Given the description of an element on the screen output the (x, y) to click on. 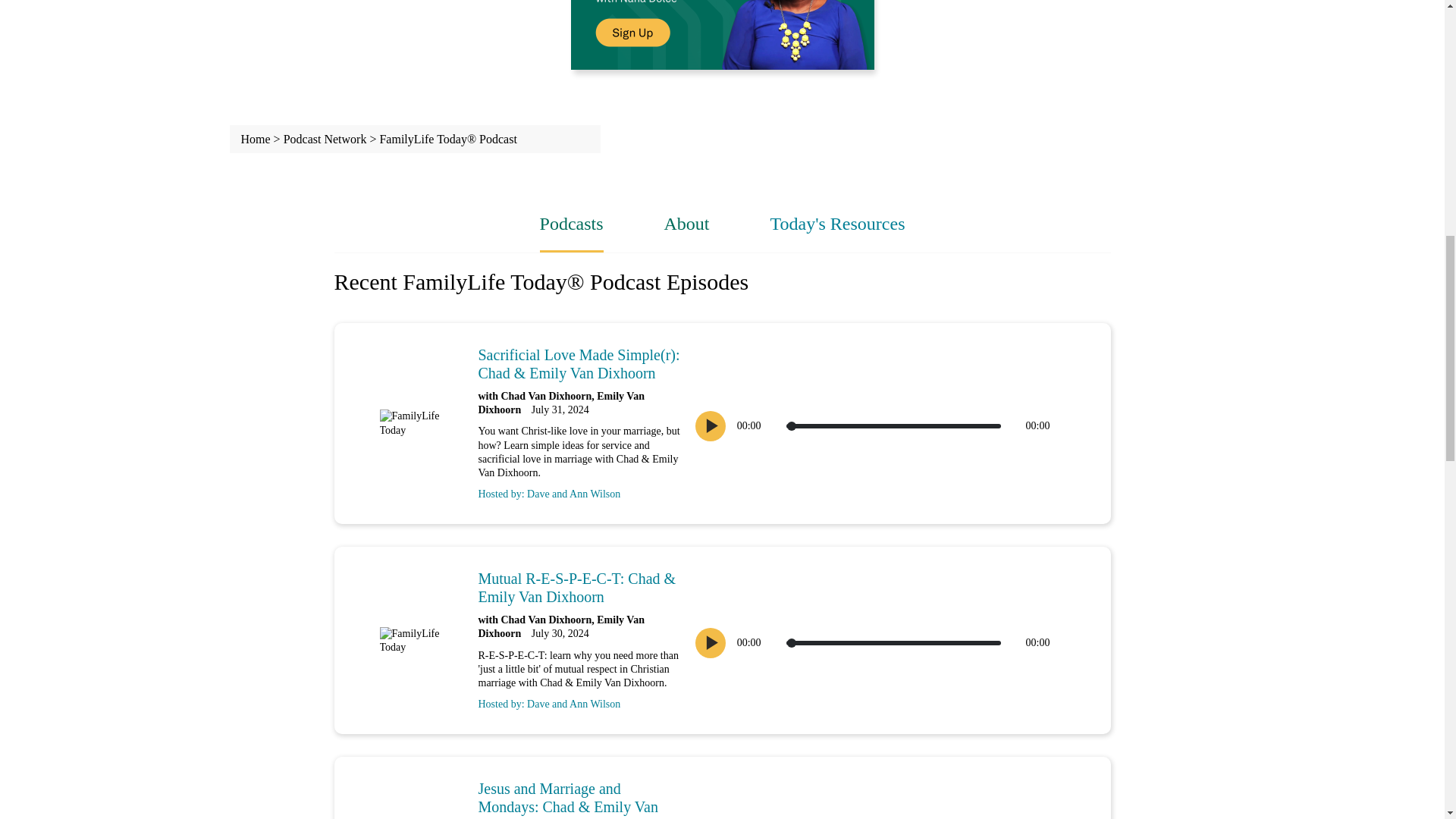
0 (893, 426)
Podcast Network (324, 138)
Home (255, 138)
Hosted by: Dave and Ann Wilson (579, 700)
Hosted by: Dave and Ann Wilson (579, 490)
Today's Resources (837, 223)
0 (893, 642)
